Given the description of an element on the screen output the (x, y) to click on. 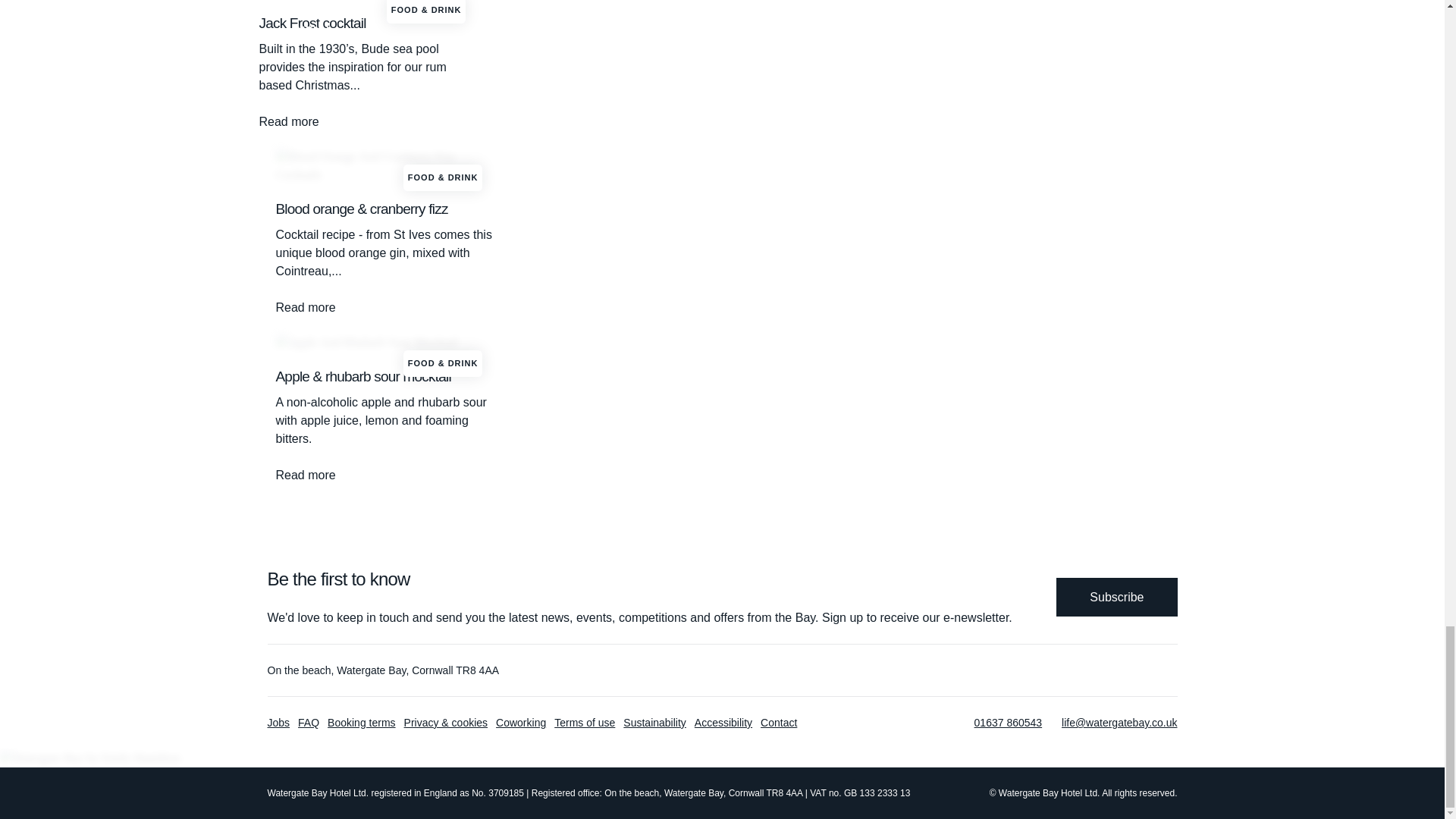
Facebook (1052, 669)
Jack Frost cocktail (371, 122)
Vimeo (1118, 669)
Trip Advisor (1151, 669)
Instagram (1085, 669)
